Given the description of an element on the screen output the (x, y) to click on. 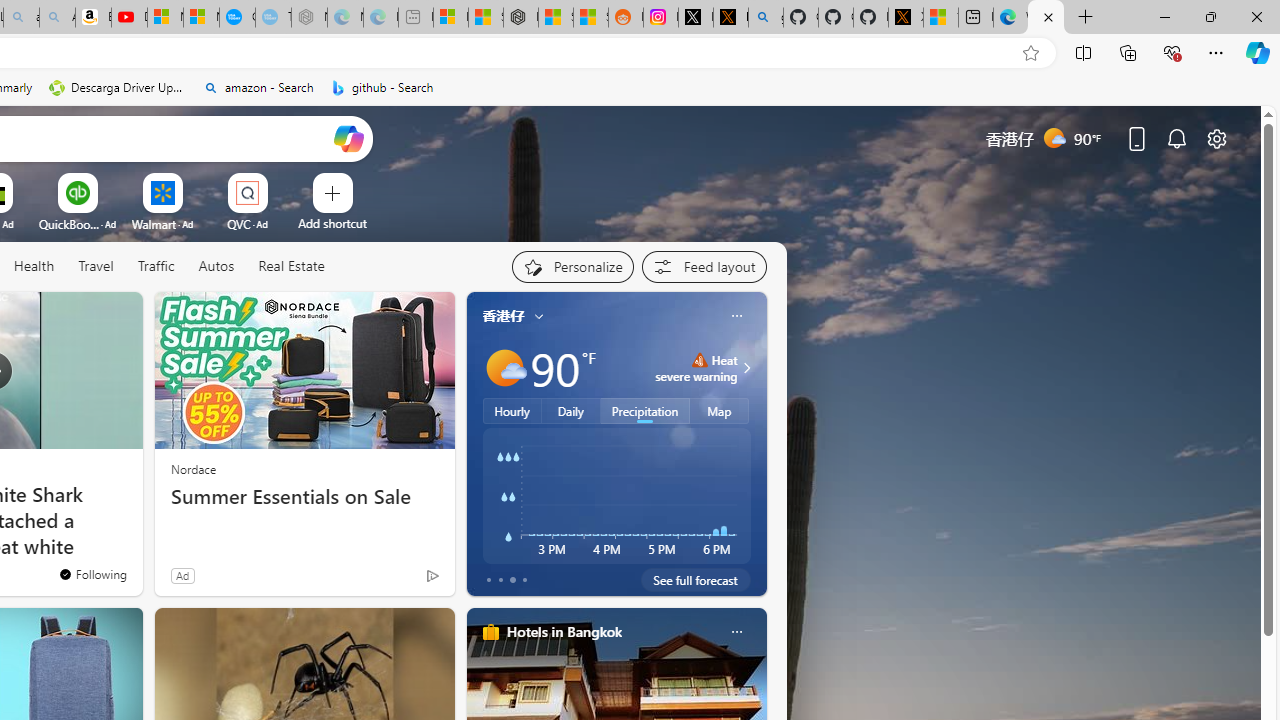
Log in to X / X (695, 17)
Opinion: Op-Ed and Commentary - USA TODAY (237, 17)
tab-0 (488, 579)
help.x.com | 524: A timeout occurred (730, 17)
Hotels in Bangkok (563, 631)
Shanghai, China Weather trends | Microsoft Weather (590, 17)
Real Estate (291, 265)
Day 1: Arriving in Yemen (surreal to be here) - YouTube (129, 17)
Traffic (155, 267)
Mostly sunny (504, 368)
Feed settings (703, 266)
